Given the description of an element on the screen output the (x, y) to click on. 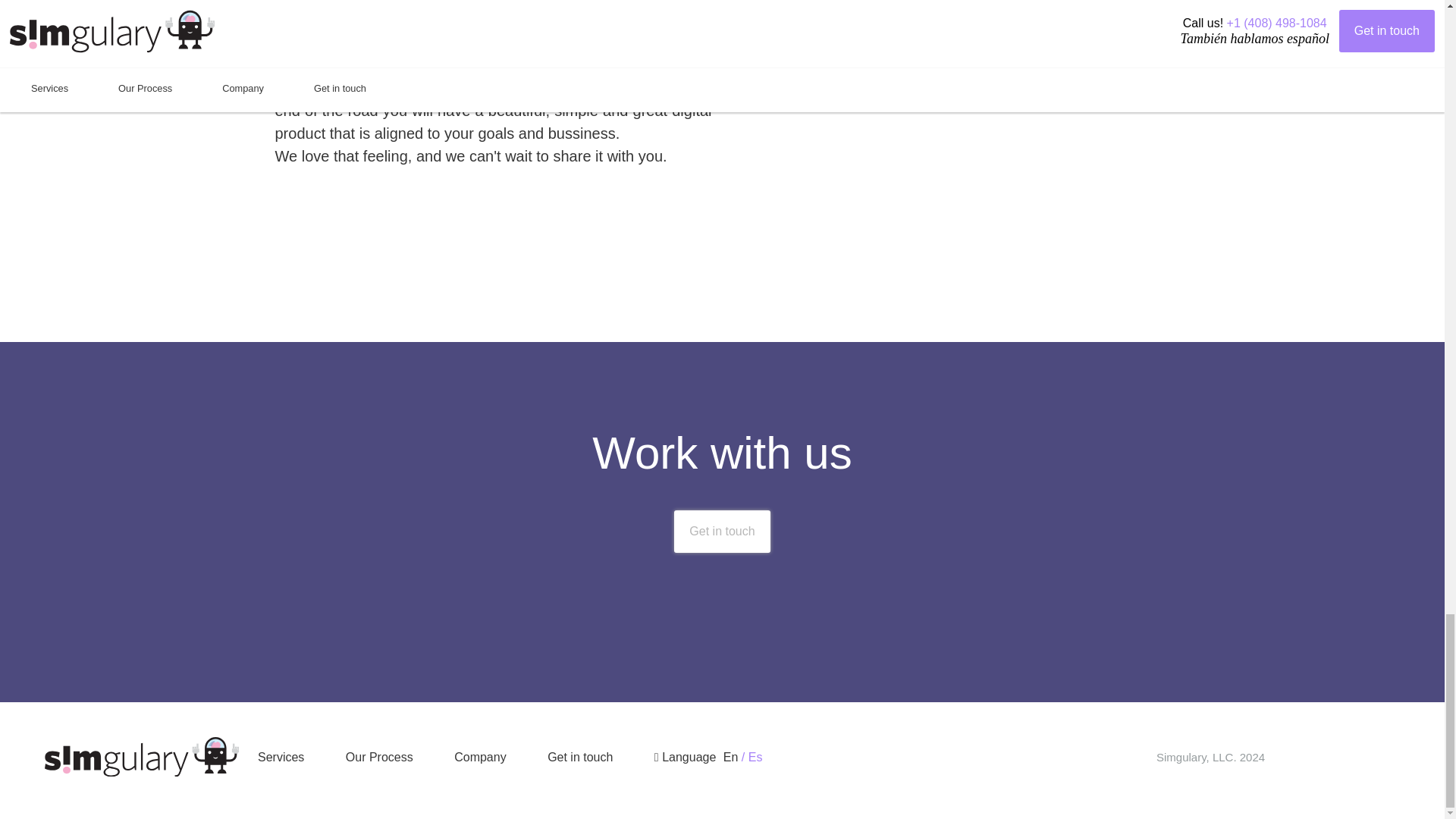
Our Process (379, 757)
Company (479, 757)
Get in touch (722, 531)
Get in touch (579, 757)
Language (676, 757)
Get in touch (722, 531)
En (732, 757)
Services (280, 757)
